Given the description of an element on the screen output the (x, y) to click on. 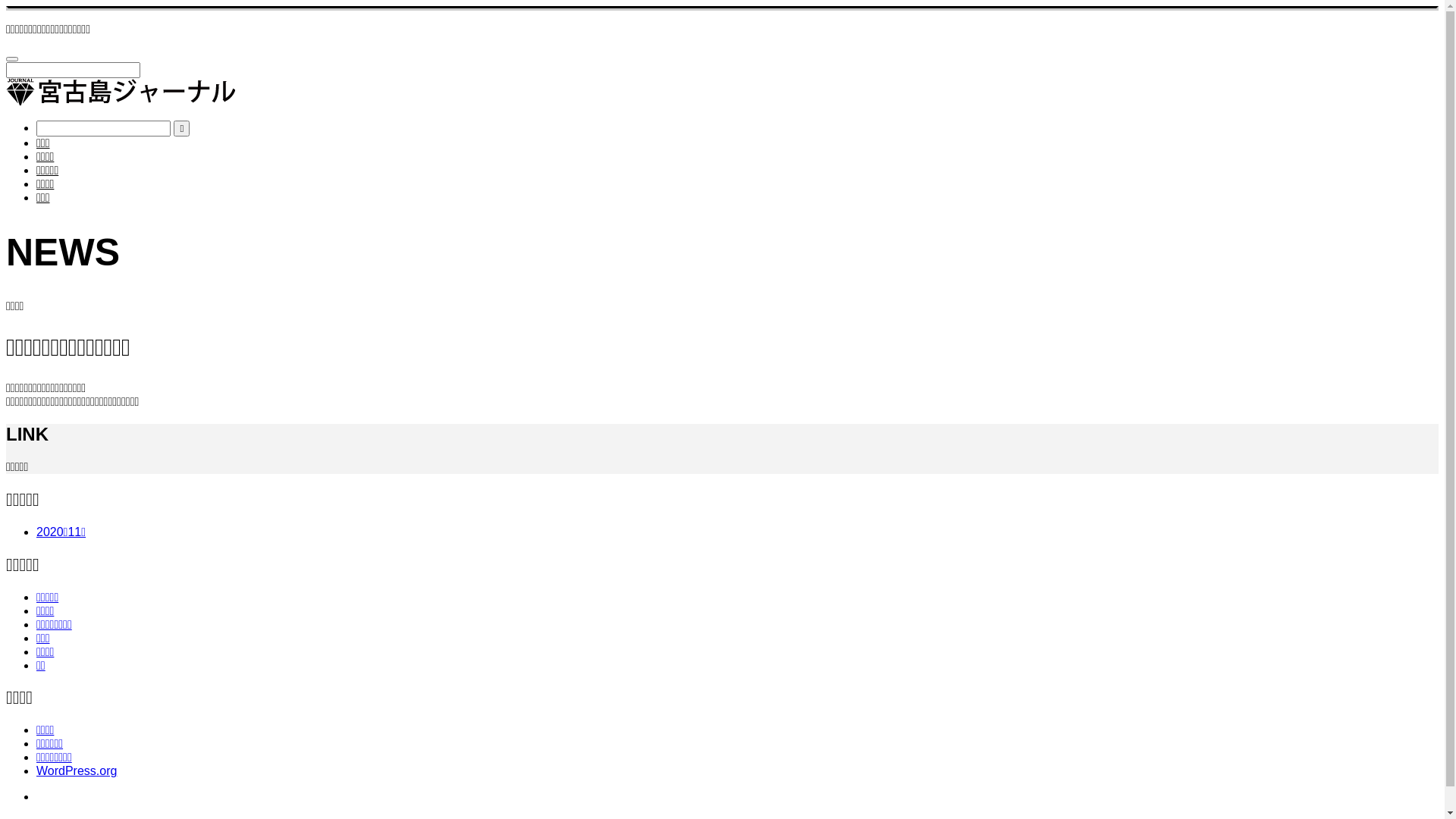
WordPress.org Element type: text (76, 770)
